Given the description of an element on the screen output the (x, y) to click on. 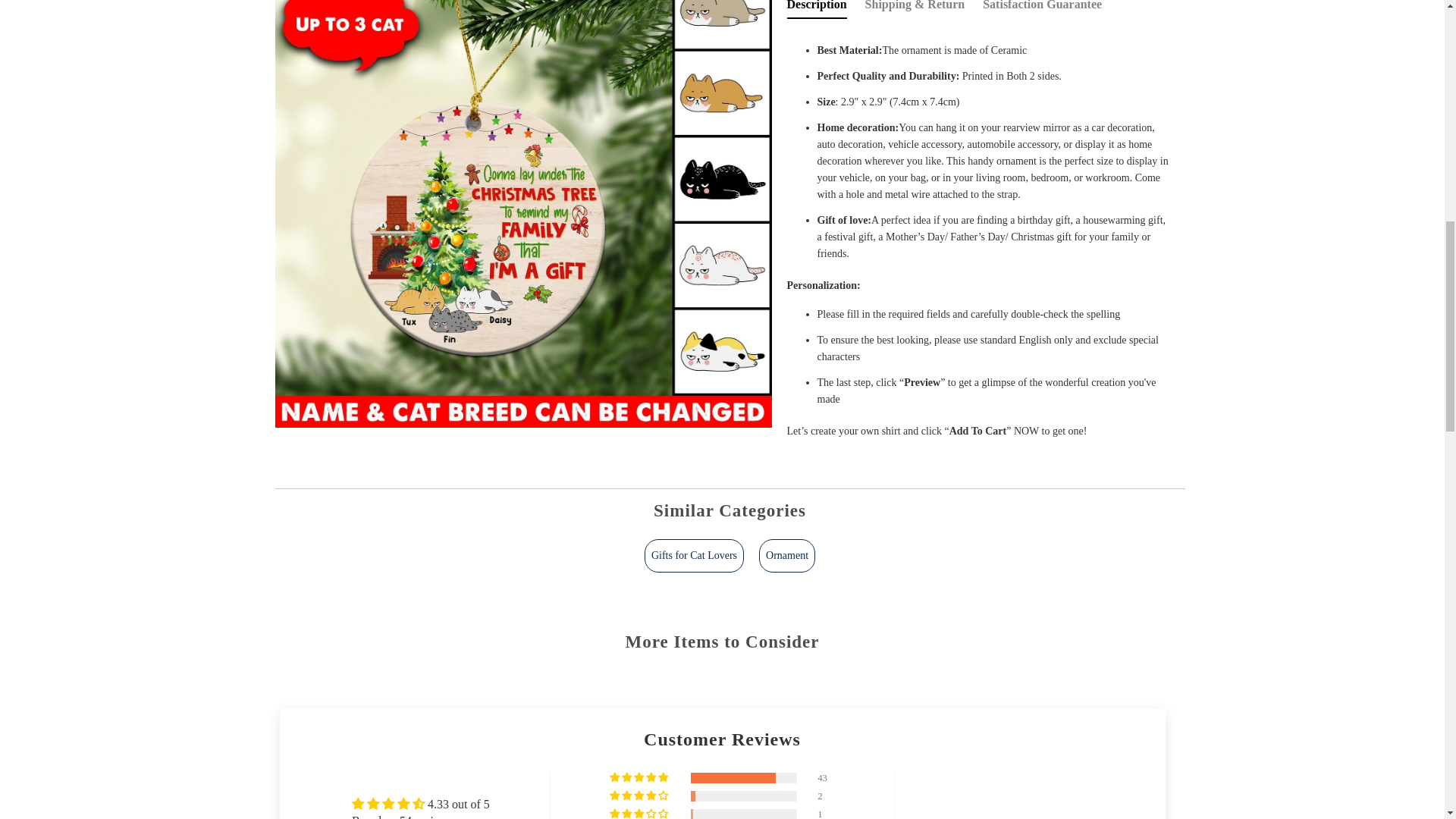
Gifts for Cat Lovers (694, 555)
Ornament (786, 555)
